Given the description of an element on the screen output the (x, y) to click on. 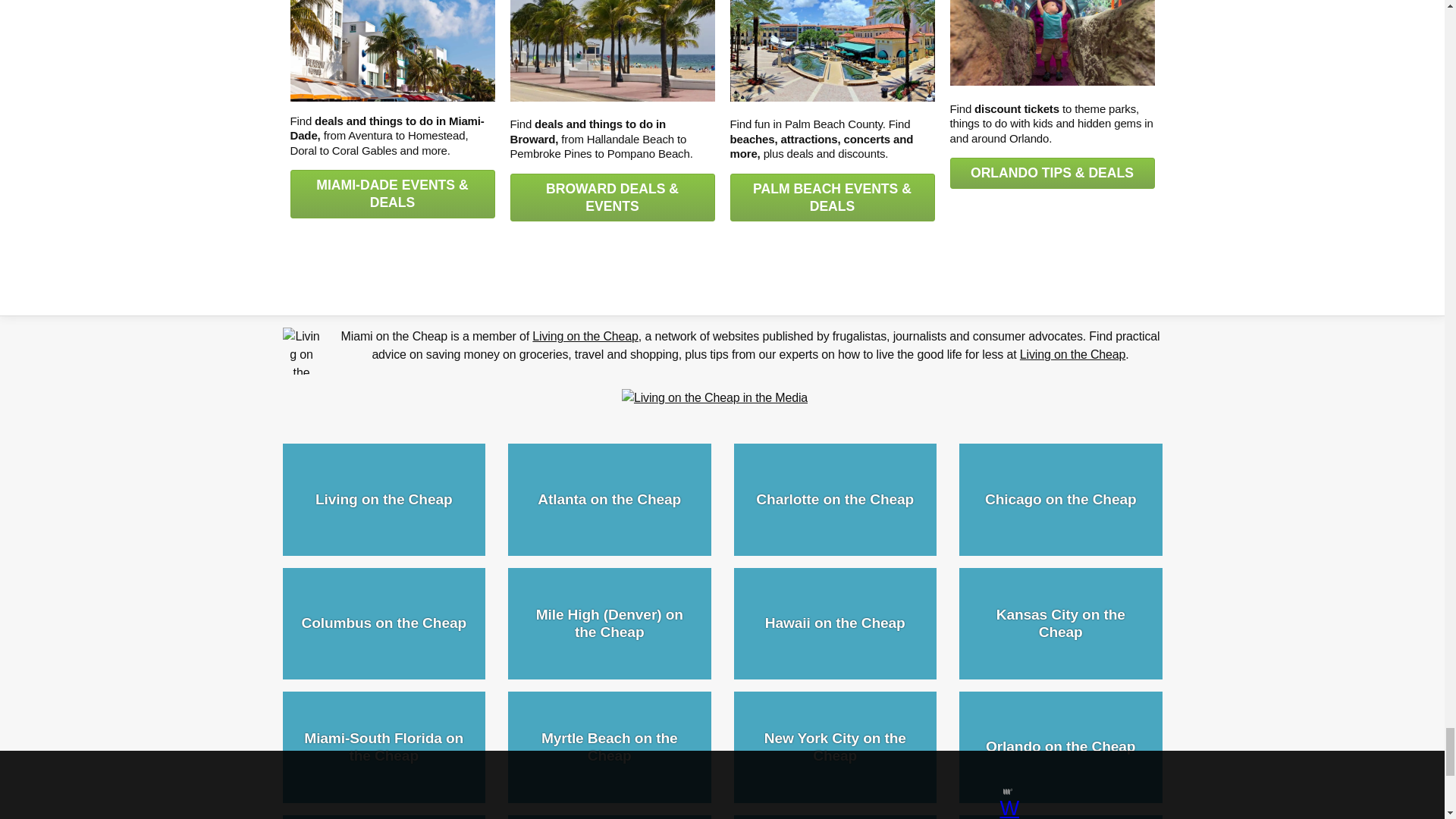
Columbus on the Cheap (383, 623)
Hawaii on the Cheap (835, 623)
Atlanta on the Cheap (609, 499)
Living on the Cheap (383, 499)
Chicago on the Cheap (1060, 499)
Charlotte on the Cheap (835, 499)
